Given the description of an element on the screen output the (x, y) to click on. 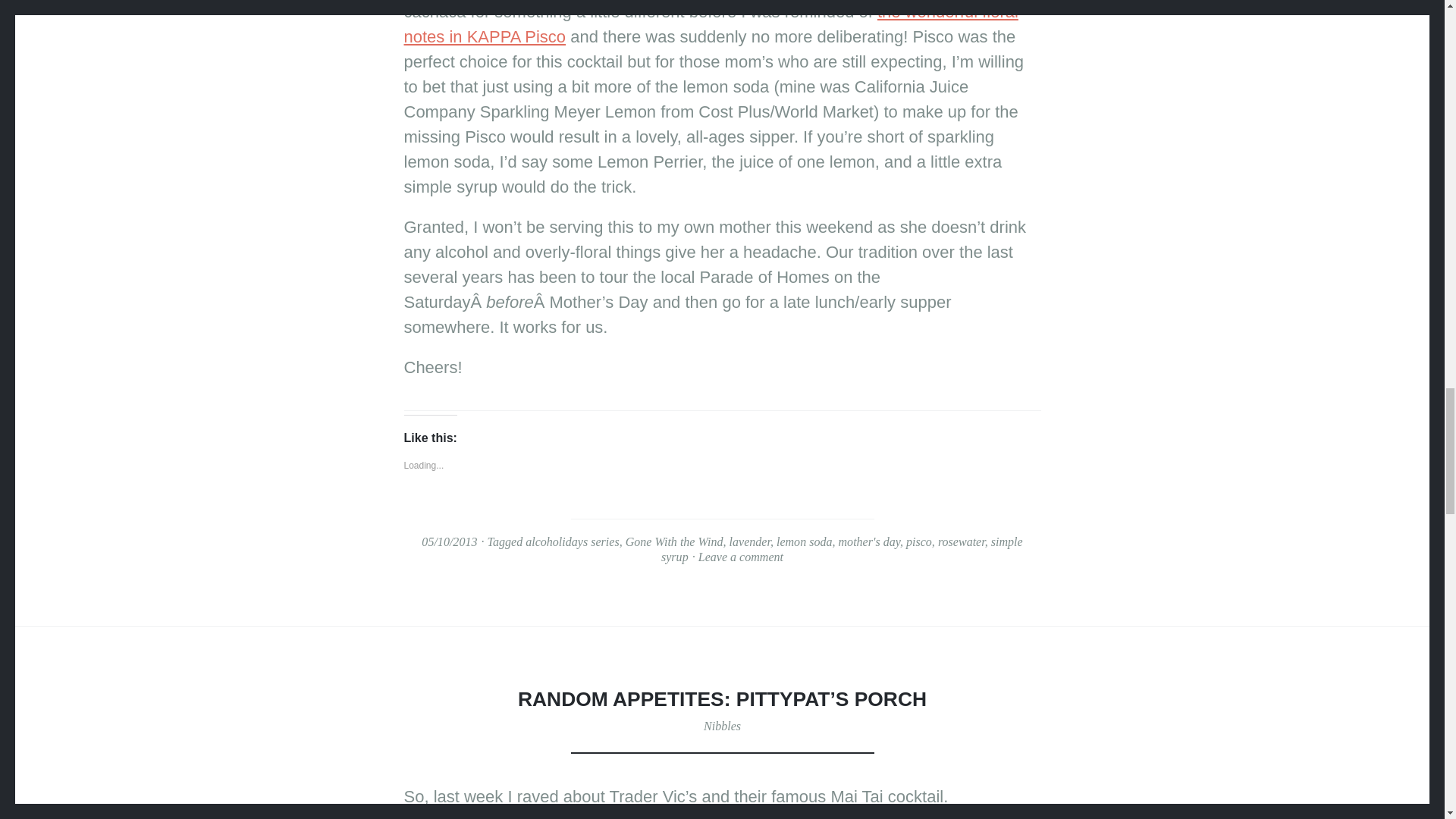
mother's day (868, 541)
lemon soda (804, 541)
simple syrup (842, 549)
rosewater (961, 541)
Gone With the Wind (674, 541)
lavender (749, 541)
the wonderful floral notes in KAPPA Pisco (710, 23)
alcoholidays series (571, 541)
pisco (918, 541)
